Given the description of an element on the screen output the (x, y) to click on. 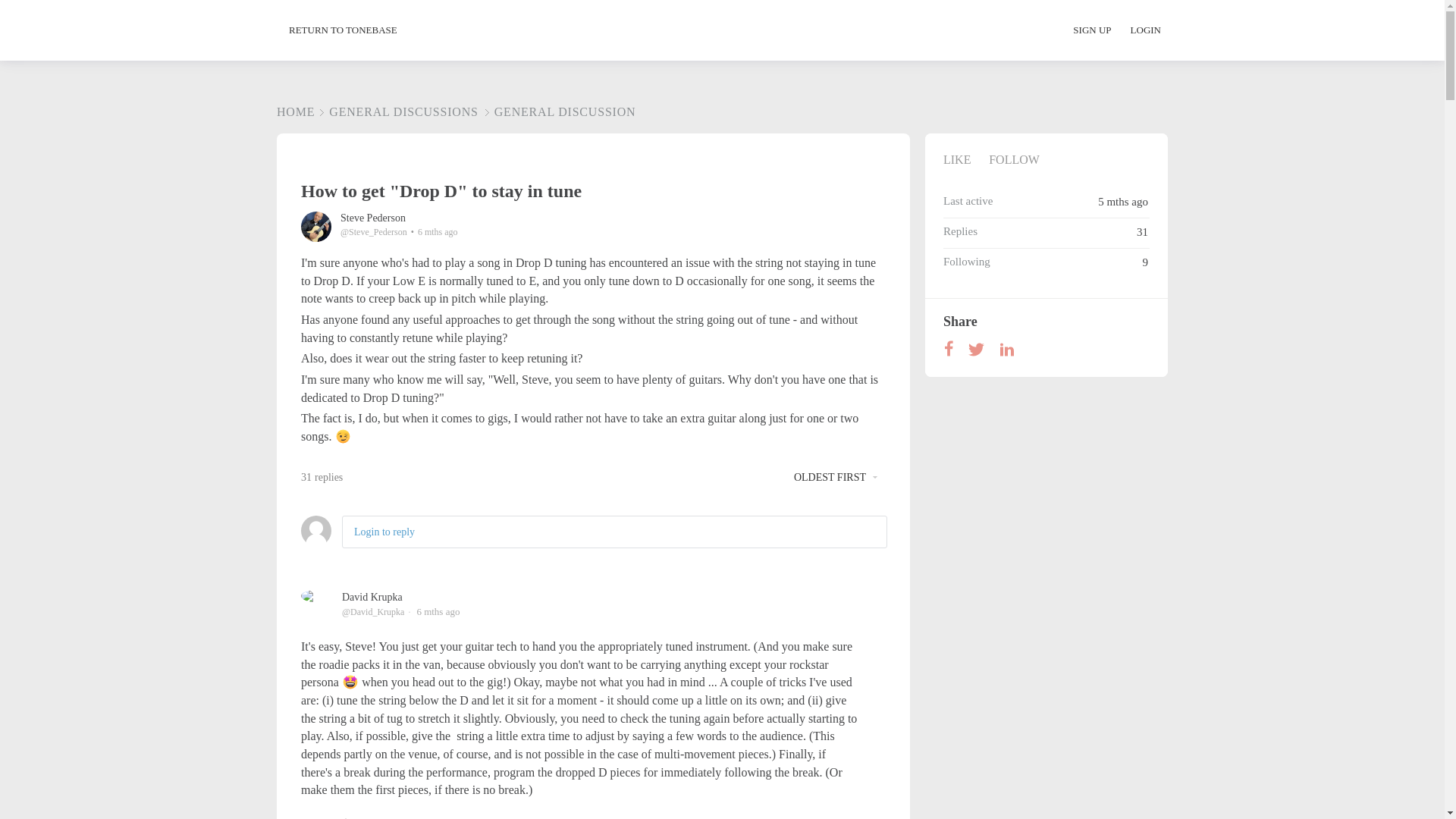
RETURN TO TONEBASE (342, 30)
David Krupka (372, 596)
HOME (295, 111)
LOGIN (1145, 30)
GENERAL DISCUSSION (558, 111)
Steve Pederson (373, 217)
Login to reply (383, 531)
SIGN UP (1099, 30)
GENERAL DISCUSSIONS (396, 111)
